Given the description of an element on the screen output the (x, y) to click on. 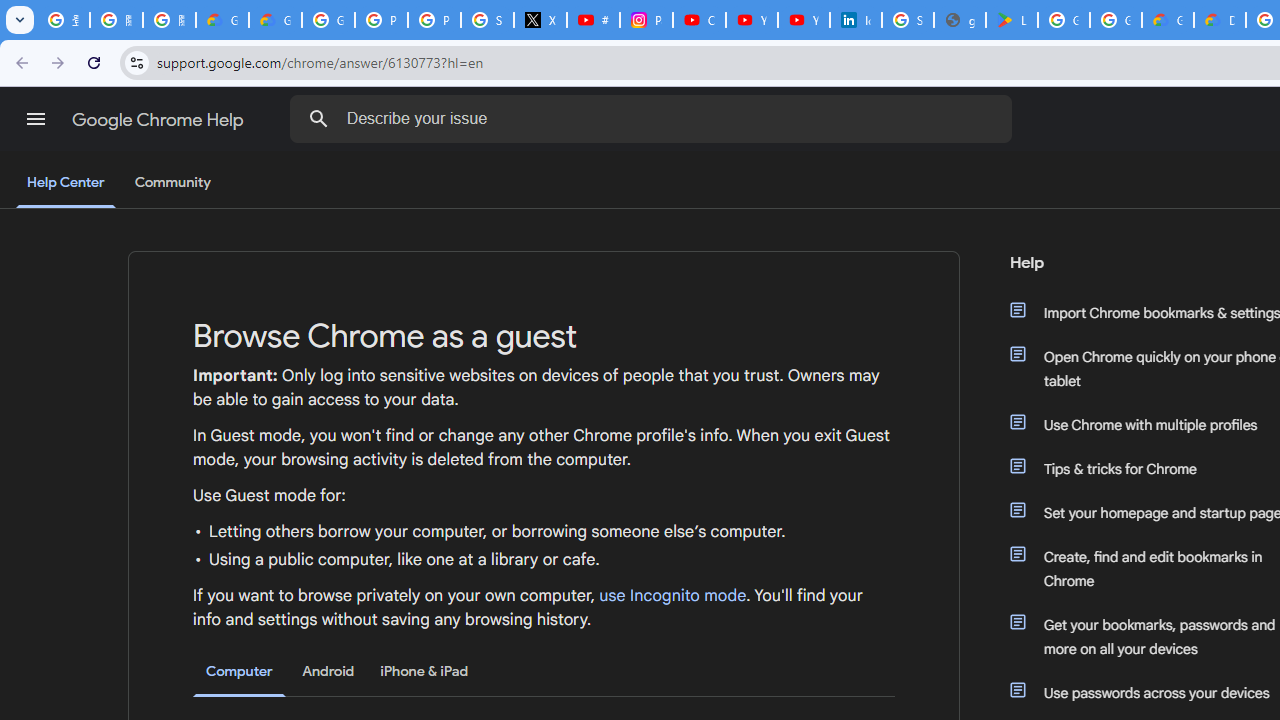
System (10, 11)
use Incognito mode (673, 596)
Government | Google Cloud (1167, 20)
#nbabasketballhighlights - YouTube (593, 20)
Google Cloud Privacy Notice (222, 20)
X (540, 20)
View site information (136, 62)
Identity verification via Persona | LinkedIn Help (855, 20)
Reload (93, 62)
Privacy Help Center - Policies Help (434, 20)
